Given the description of an element on the screen output the (x, y) to click on. 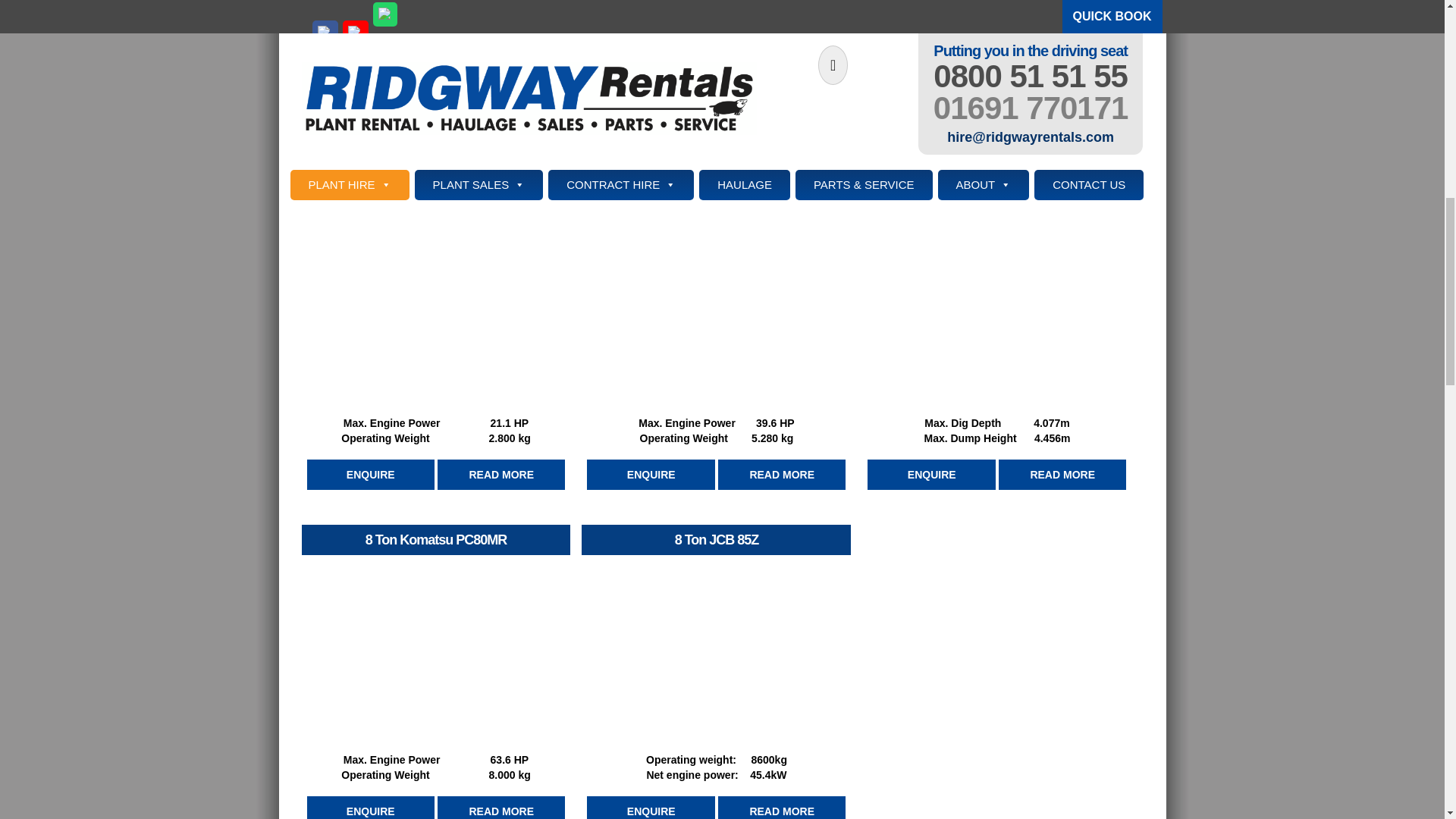
Read More (500, 806)
Read More (781, 137)
Read More (781, 474)
Read More (1061, 137)
Read More (500, 137)
Read More (1061, 474)
Read More (500, 474)
Read More (781, 806)
